Given the description of an element on the screen output the (x, y) to click on. 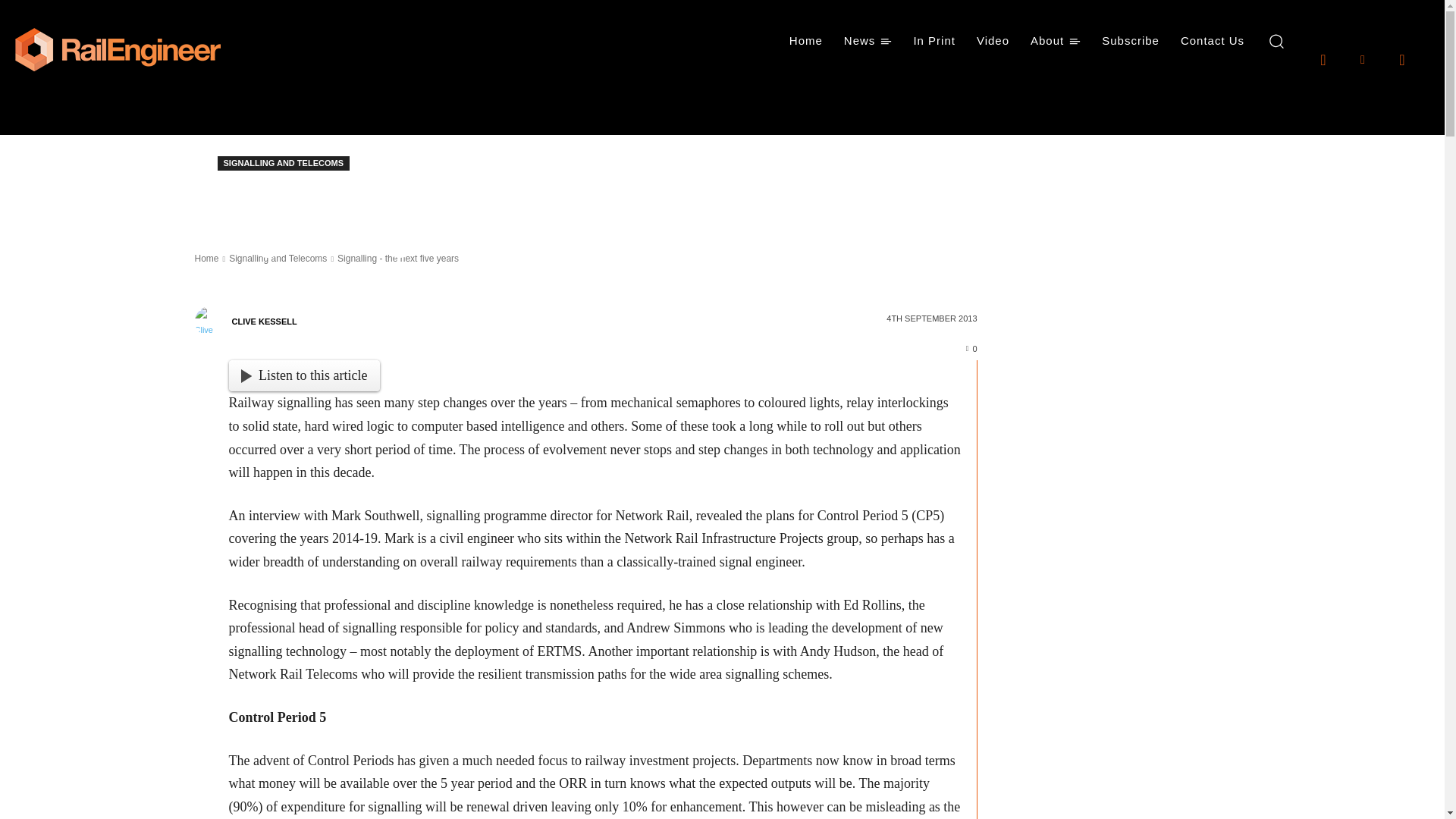
Video (993, 40)
Facebook (1322, 58)
Home (805, 40)
About (1055, 40)
Linkedin (1361, 58)
In Print (934, 40)
Twitter (1401, 58)
News (867, 40)
